Given the description of an element on the screen output the (x, y) to click on. 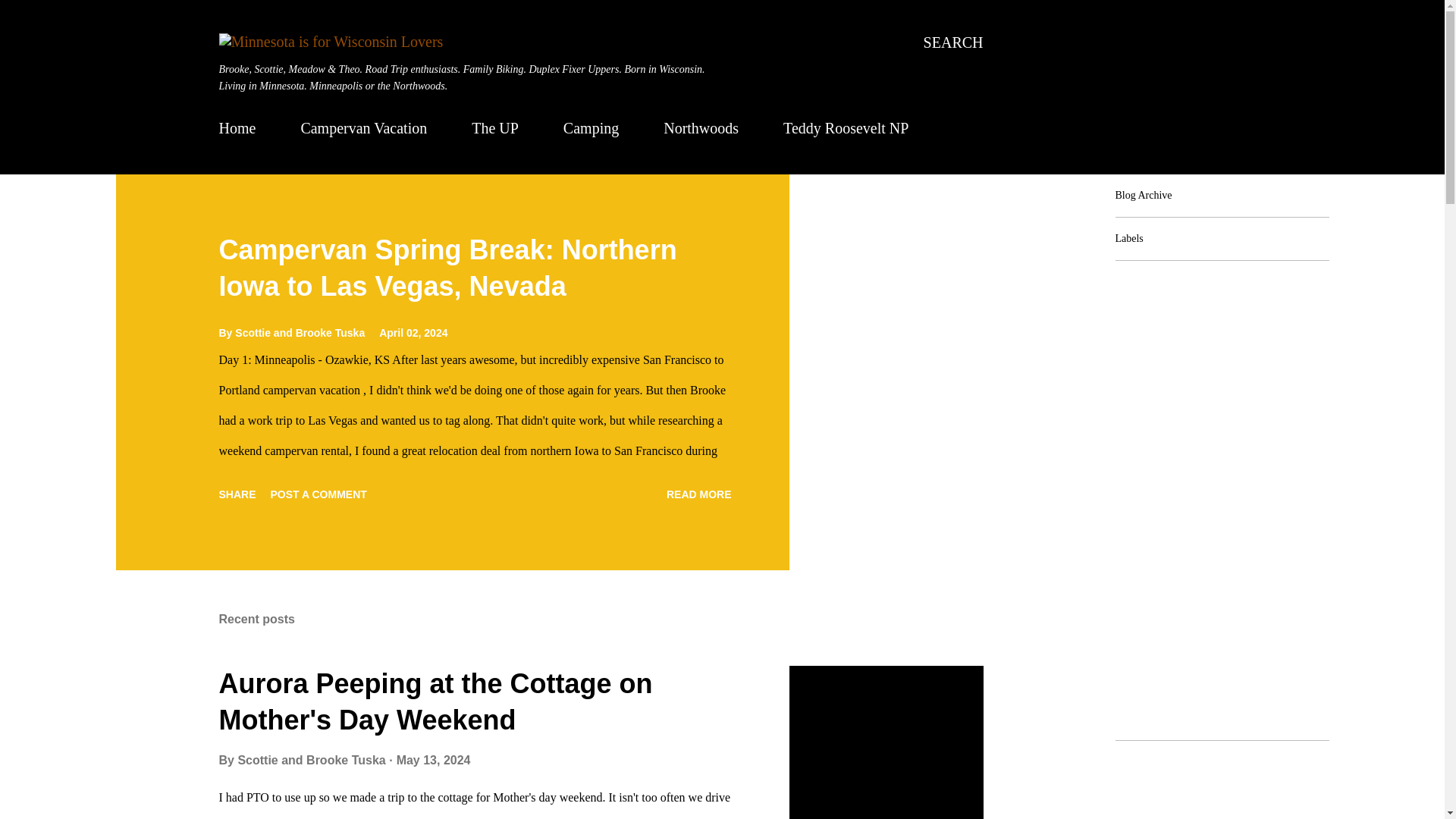
April 02, 2024 (412, 332)
The UP (495, 127)
author profile (312, 759)
Campervan Spring Break: Northern Iowa to Las Vegas, Nevada (699, 494)
POST A COMMENT (318, 494)
Teddy Roosevelt NP (845, 127)
Campervan Vacation (363, 127)
SEARCH (953, 42)
Scottie and Brooke Tuska (312, 759)
READ MORE (699, 494)
Home (241, 127)
Aurora Peeping at the Cottage on Mother's Day Weekend (435, 701)
author profile (299, 332)
Northwoods (700, 127)
permanent link (412, 332)
